Given the description of an element on the screen output the (x, y) to click on. 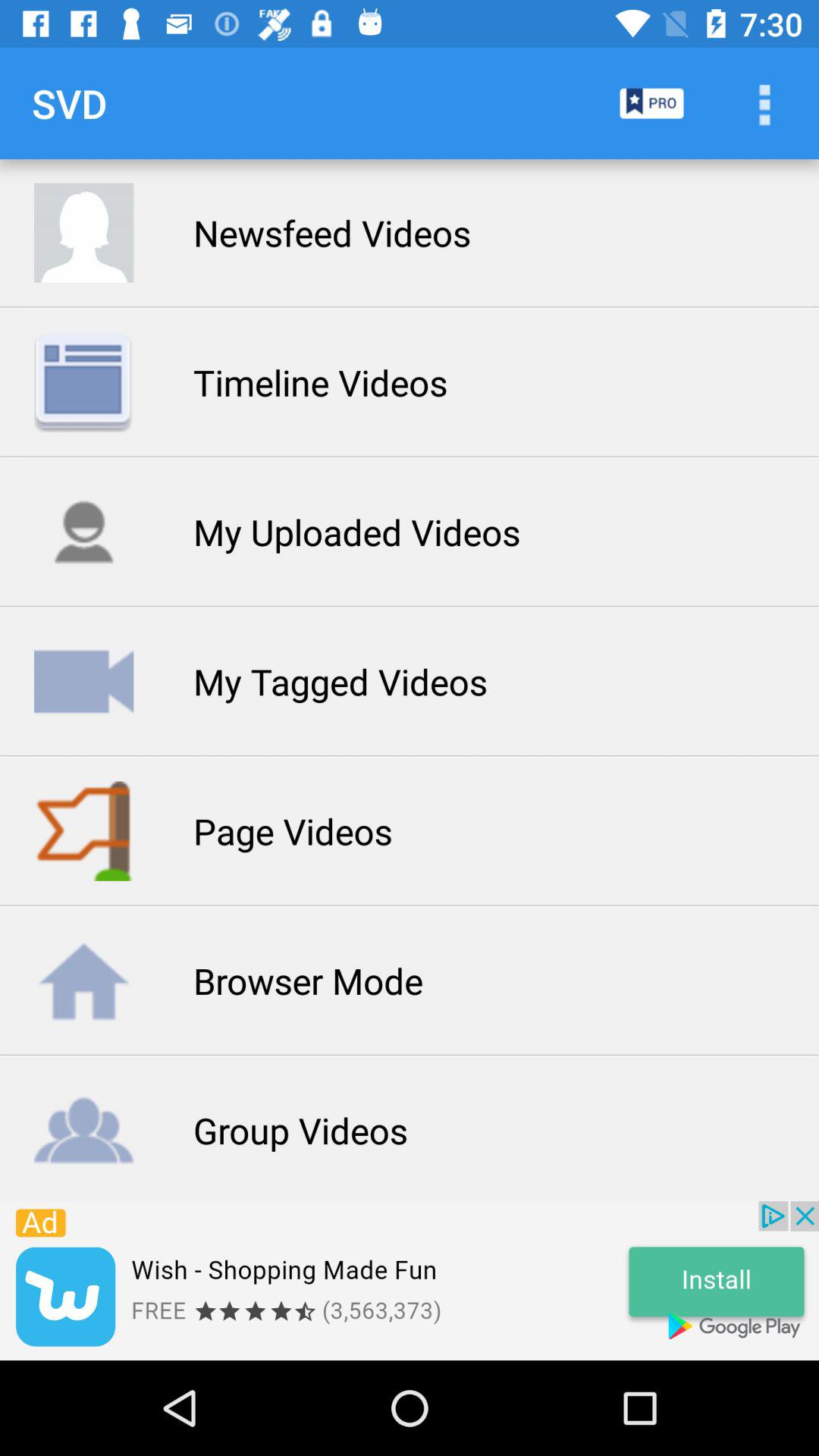
advertisement (409, 1280)
